Given the description of an element on the screen output the (x, y) to click on. 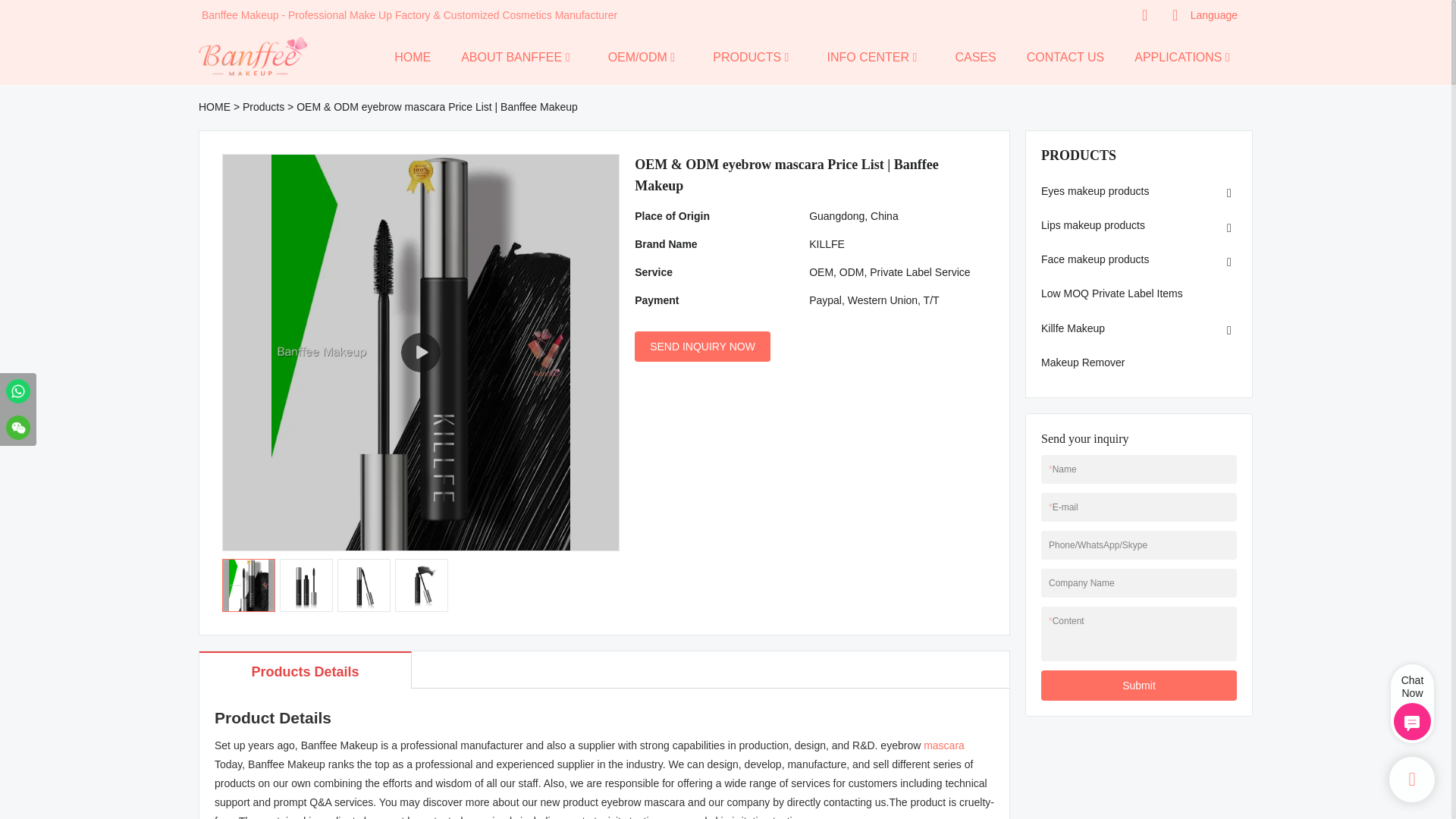
mascara (943, 745)
ABOUT BANFFEE (511, 56)
HOME (412, 56)
PRODUCTS (746, 56)
